Given the description of an element on the screen output the (x, y) to click on. 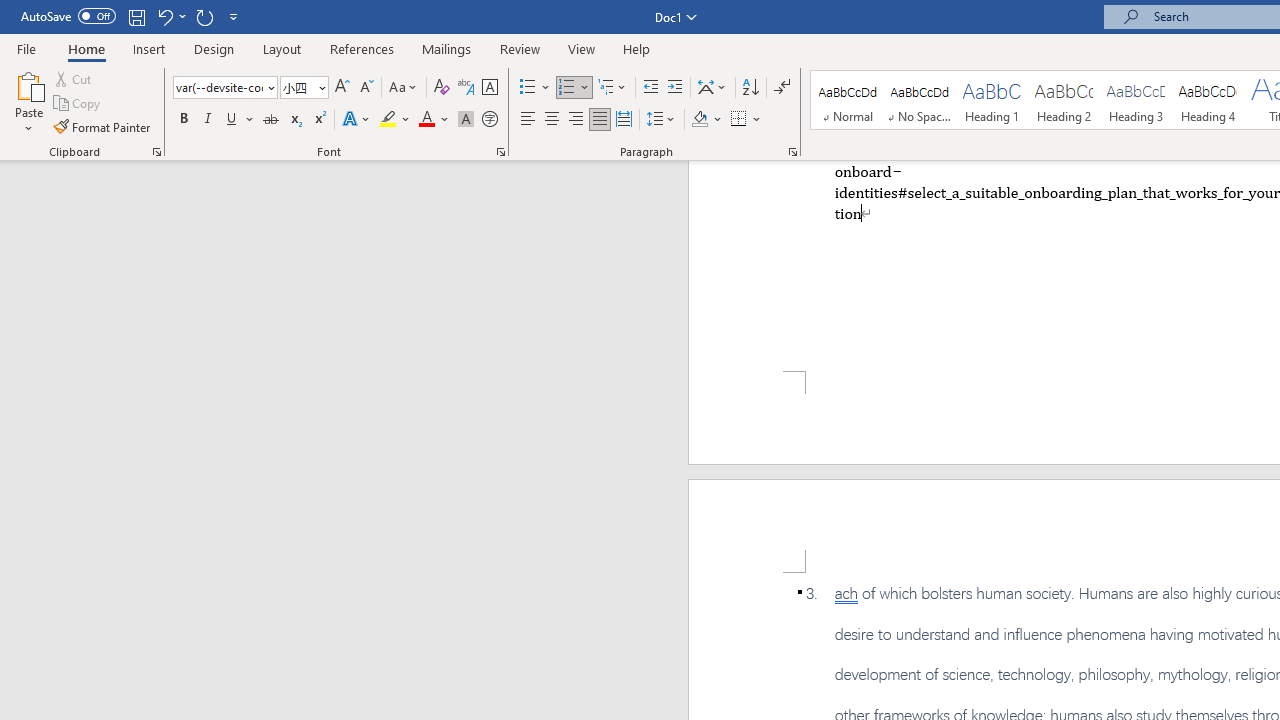
Heading 2 (1063, 100)
